Given the description of an element on the screen output the (x, y) to click on. 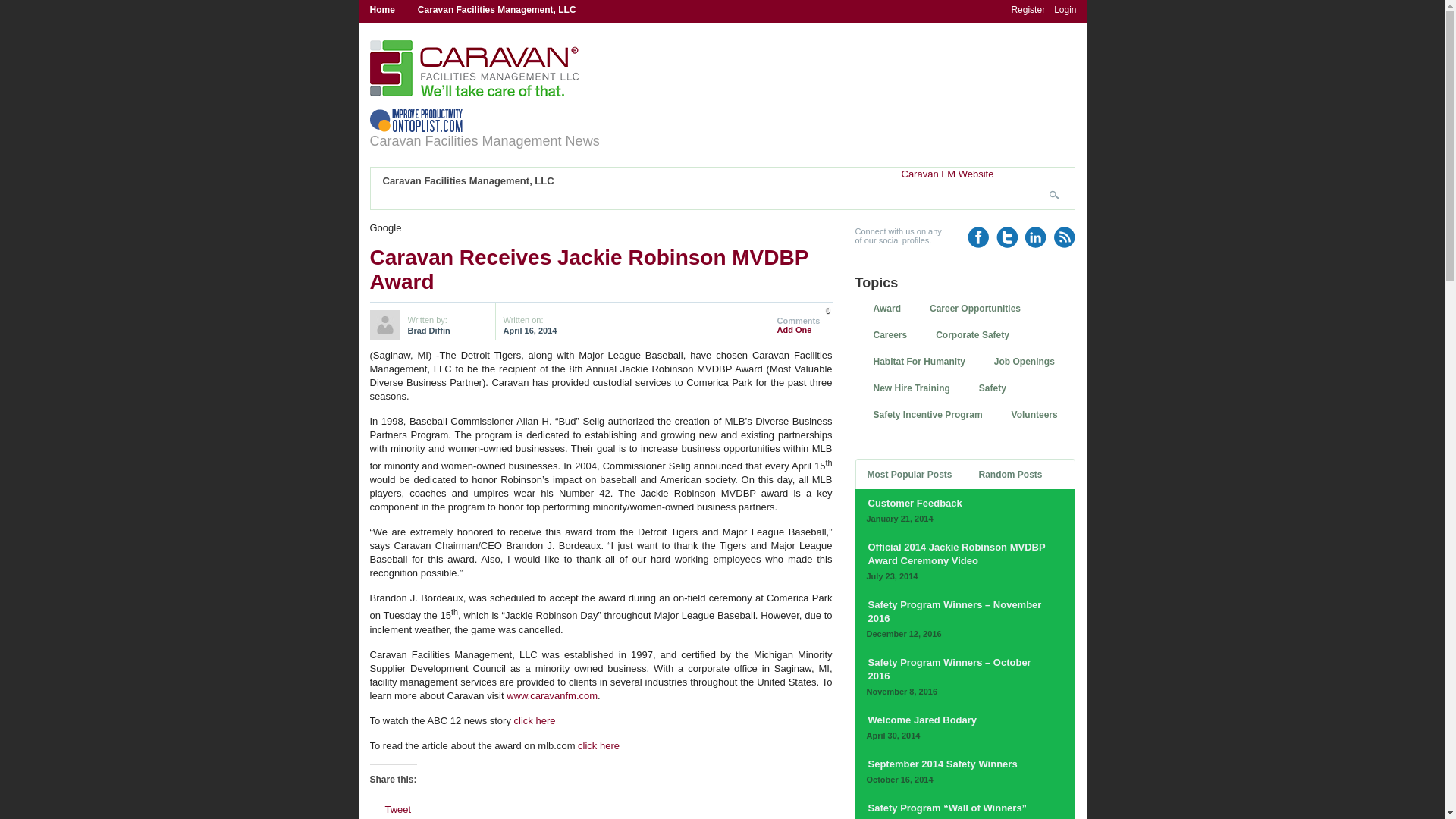
Caravan Facilities Management, LLC (468, 181)
Habitat For Humanity (921, 361)
Safety (994, 388)
Job Openings (1026, 361)
3 topics (994, 388)
Corporate Safety (974, 334)
1 topic (921, 361)
Add One (793, 329)
Caravan Facilities Management, LLC (497, 11)
Brad Diffin (428, 329)
